Given the description of an element on the screen output the (x, y) to click on. 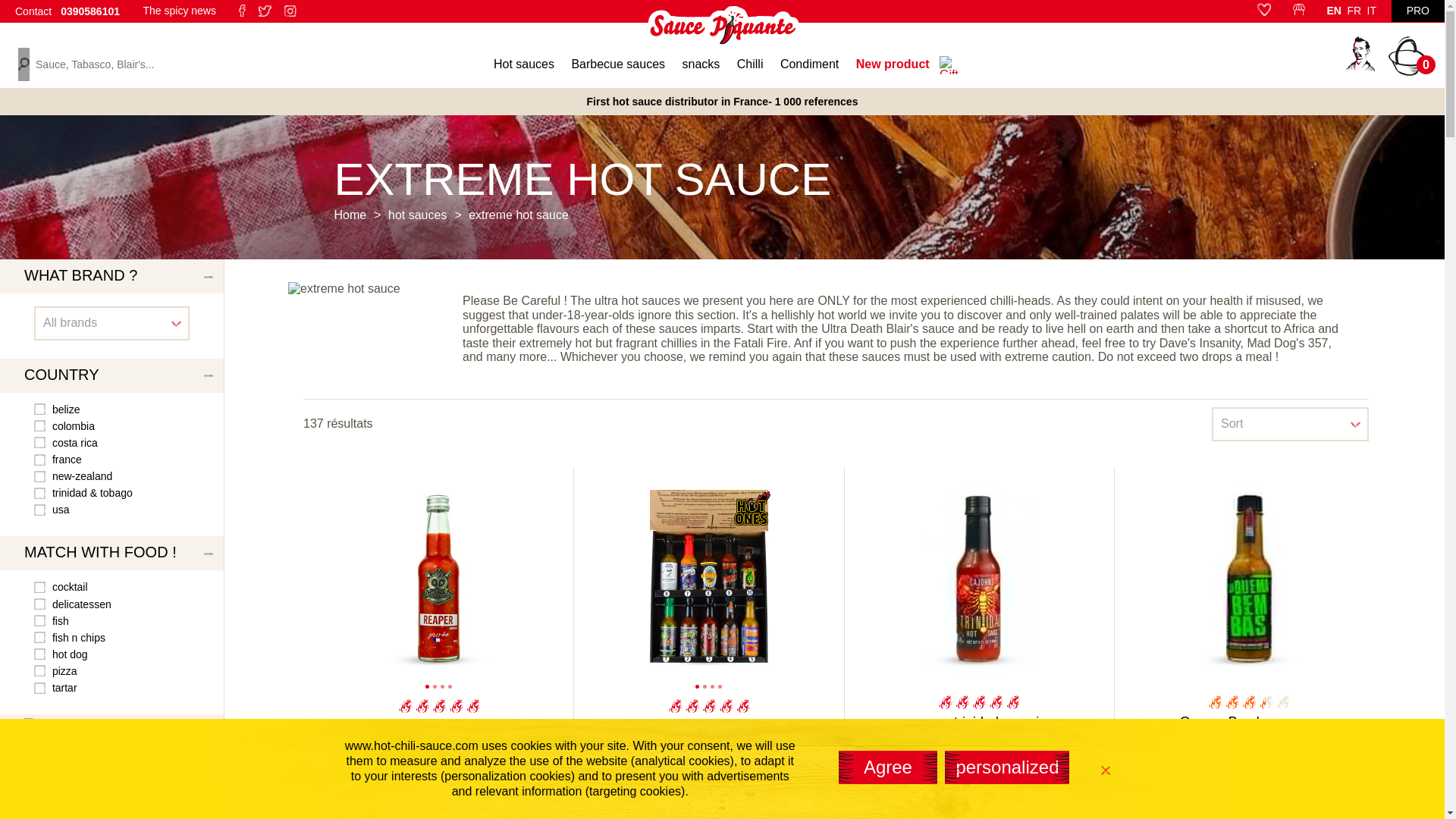
The spicy news (178, 9)
Contact 0390586101 (66, 10)
personalized (1006, 767)
The spicy news (178, 9)
Barbecue sauces (617, 65)
Twitter (265, 11)
FR (1353, 10)
Agree (887, 767)
Hot sauces (523, 65)
0 (1407, 56)
